Given the description of an element on the screen output the (x, y) to click on. 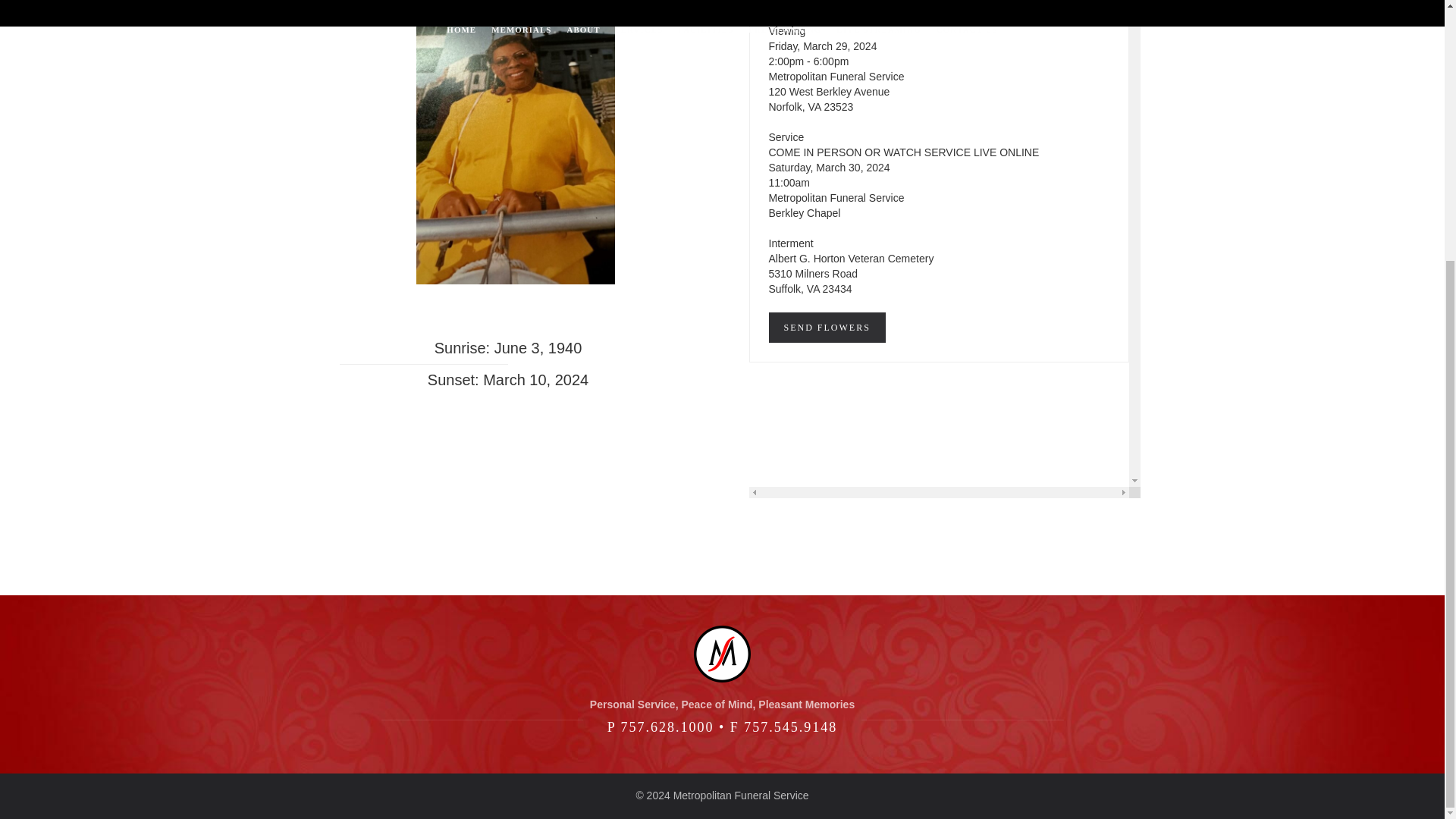
Service Details (796, 2)
Obituary (875, 2)
Condolences (949, 2)
SEND FLOWERS (826, 327)
